Given the description of an element on the screen output the (x, y) to click on. 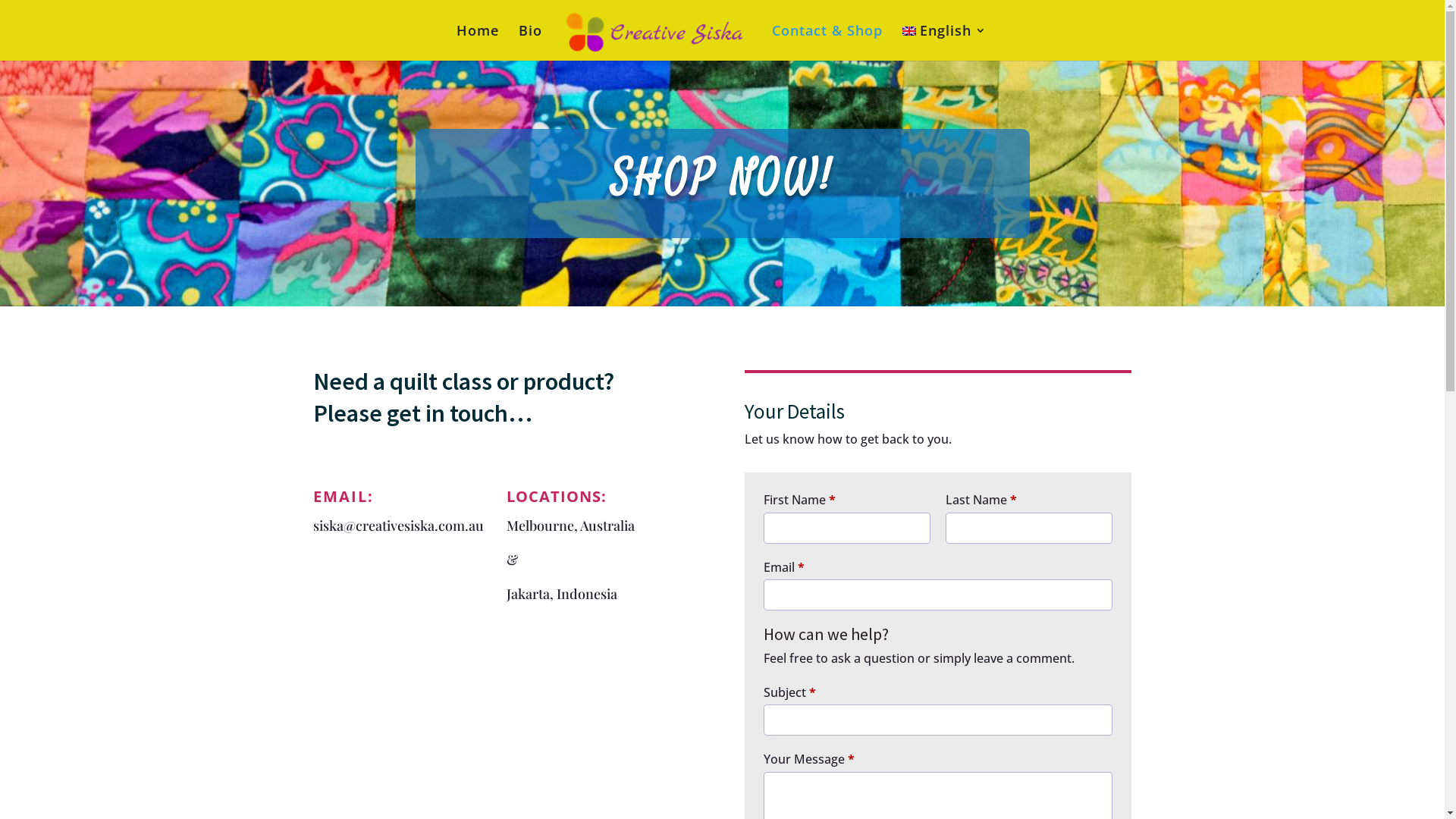
Bio Element type: text (530, 42)
SHOP NOW! Element type: text (722, 178)
Contact & Shop Element type: text (826, 42)
English Element type: text (944, 42)
Home Element type: text (477, 42)
